Given the description of an element on the screen output the (x, y) to click on. 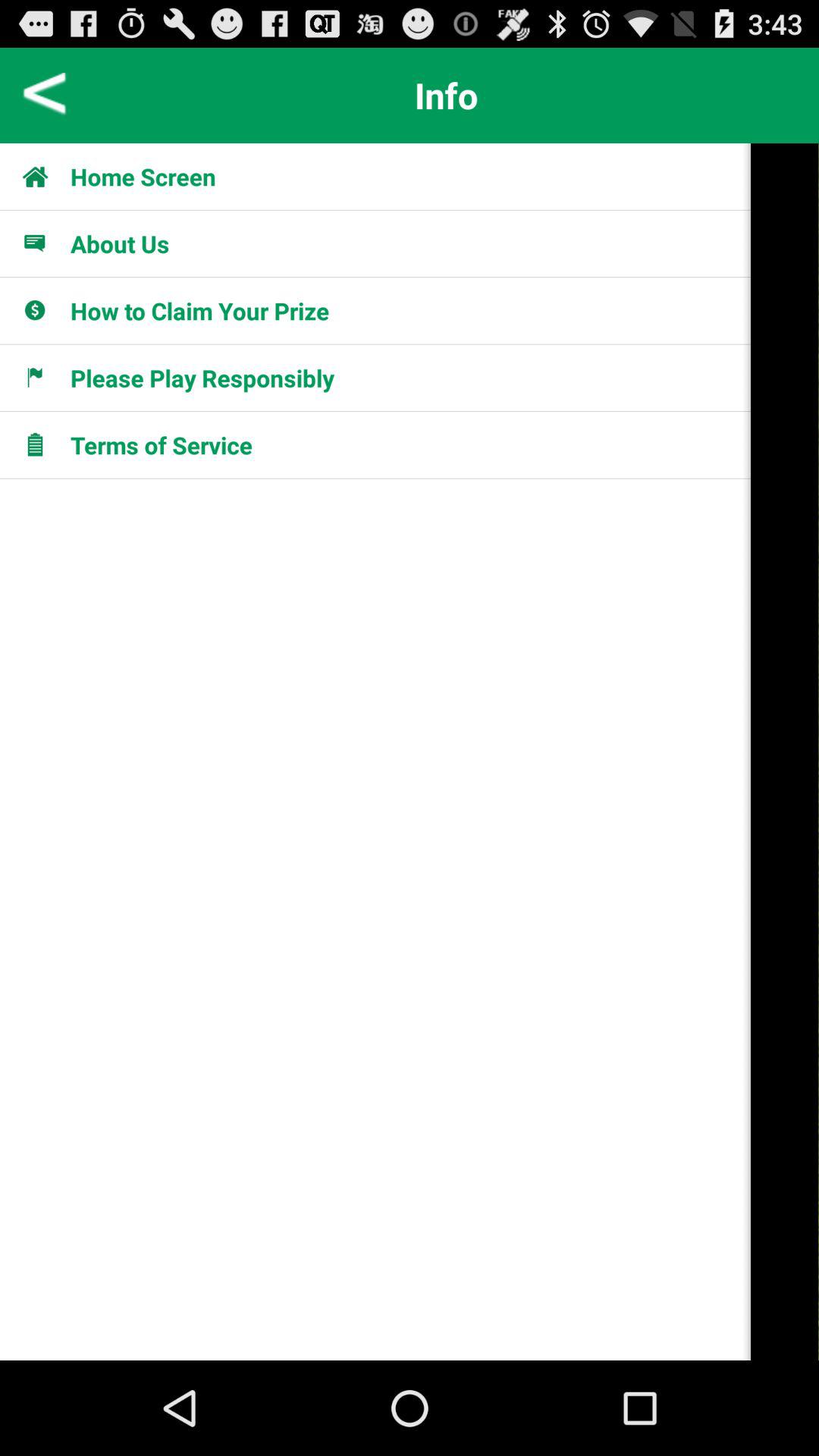
turn on item next to the about us icon (43, 243)
